Given the description of an element on the screen output the (x, y) to click on. 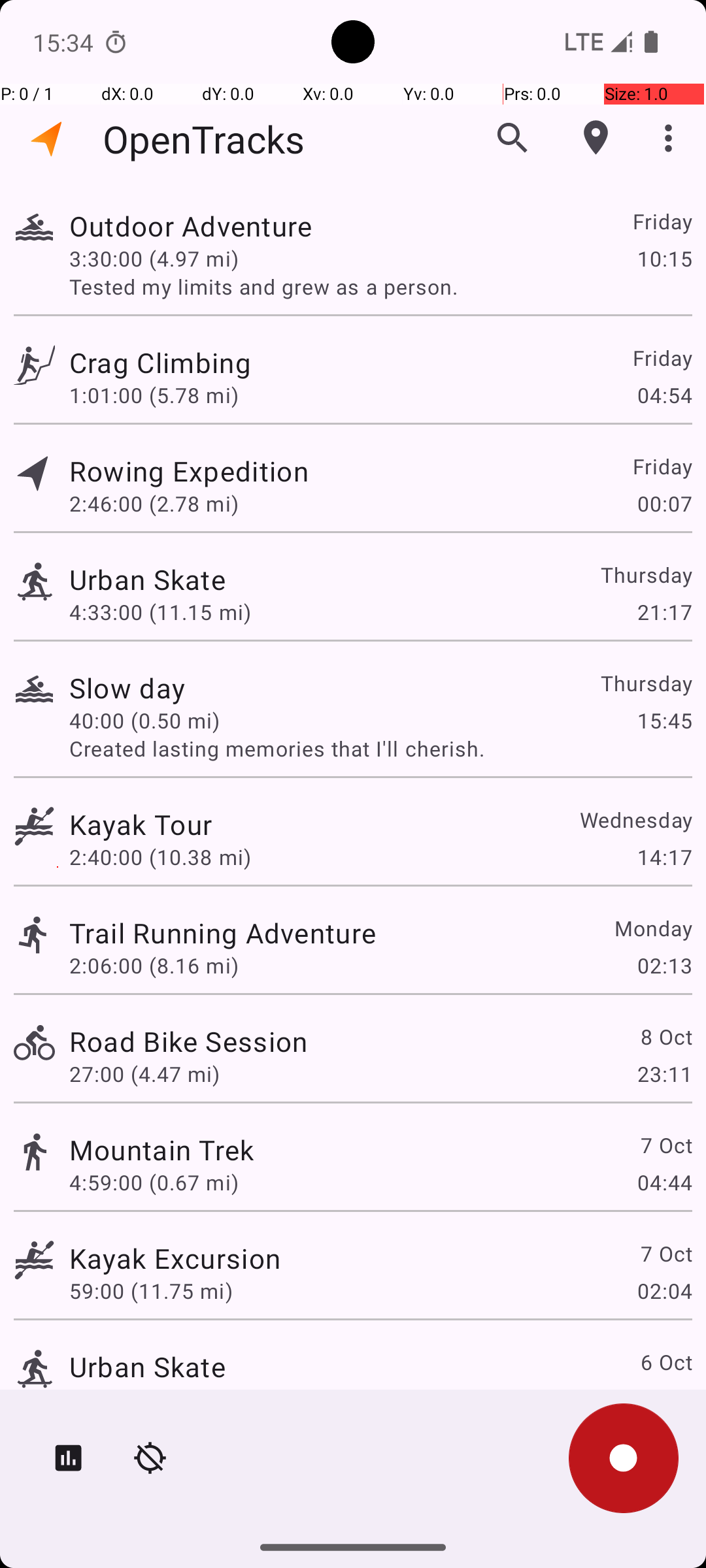
Outdoor Adventure Element type: android.widget.TextView (190, 225)
3:30:00 (4.97 mi) Element type: android.widget.TextView (153, 258)
10:15 Element type: android.widget.TextView (664, 258)
Tested my limits and grew as a person. Element type: android.widget.TextView (380, 286)
Crag Climbing Element type: android.widget.TextView (159, 361)
1:01:00 (5.78 mi) Element type: android.widget.TextView (153, 394)
04:54 Element type: android.widget.TextView (664, 394)
Rowing Expedition Element type: android.widget.TextView (188, 470)
2:46:00 (2.78 mi) Element type: android.widget.TextView (153, 503)
00:07 Element type: android.widget.TextView (664, 503)
Urban Skate Element type: android.widget.TextView (147, 578)
4:33:00 (11.15 mi) Element type: android.widget.TextView (159, 611)
21:17 Element type: android.widget.TextView (664, 611)
Slow day Element type: android.widget.TextView (126, 687)
40:00 (0.50 mi) Element type: android.widget.TextView (144, 720)
15:45 Element type: android.widget.TextView (664, 720)
Created lasting memories that I'll cherish. Element type: android.widget.TextView (380, 748)
Kayak Tour Element type: android.widget.TextView (140, 823)
2:40:00 (10.38 mi) Element type: android.widget.TextView (159, 856)
14:17 Element type: android.widget.TextView (664, 856)
Trail Running Adventure Element type: android.widget.TextView (222, 932)
2:06:00 (8.16 mi) Element type: android.widget.TextView (153, 965)
02:13 Element type: android.widget.TextView (664, 965)
Road Bike Session Element type: android.widget.TextView (187, 1040)
27:00 (4.47 mi) Element type: android.widget.TextView (144, 1073)
23:11 Element type: android.widget.TextView (664, 1073)
Mountain Trek Element type: android.widget.TextView (161, 1149)
4:59:00 (0.67 mi) Element type: android.widget.TextView (153, 1182)
04:44 Element type: android.widget.TextView (664, 1182)
Kayak Excursion Element type: android.widget.TextView (174, 1257)
59:00 (11.75 mi) Element type: android.widget.TextView (150, 1290)
02:04 Element type: android.widget.TextView (664, 1290)
6 Oct Element type: android.widget.TextView (665, 1361)
3:56:00 (9.47 mi) Element type: android.widget.TextView (153, 1399)
22:00 Element type: android.widget.TextView (664, 1399)
